Given the description of an element on the screen output the (x, y) to click on. 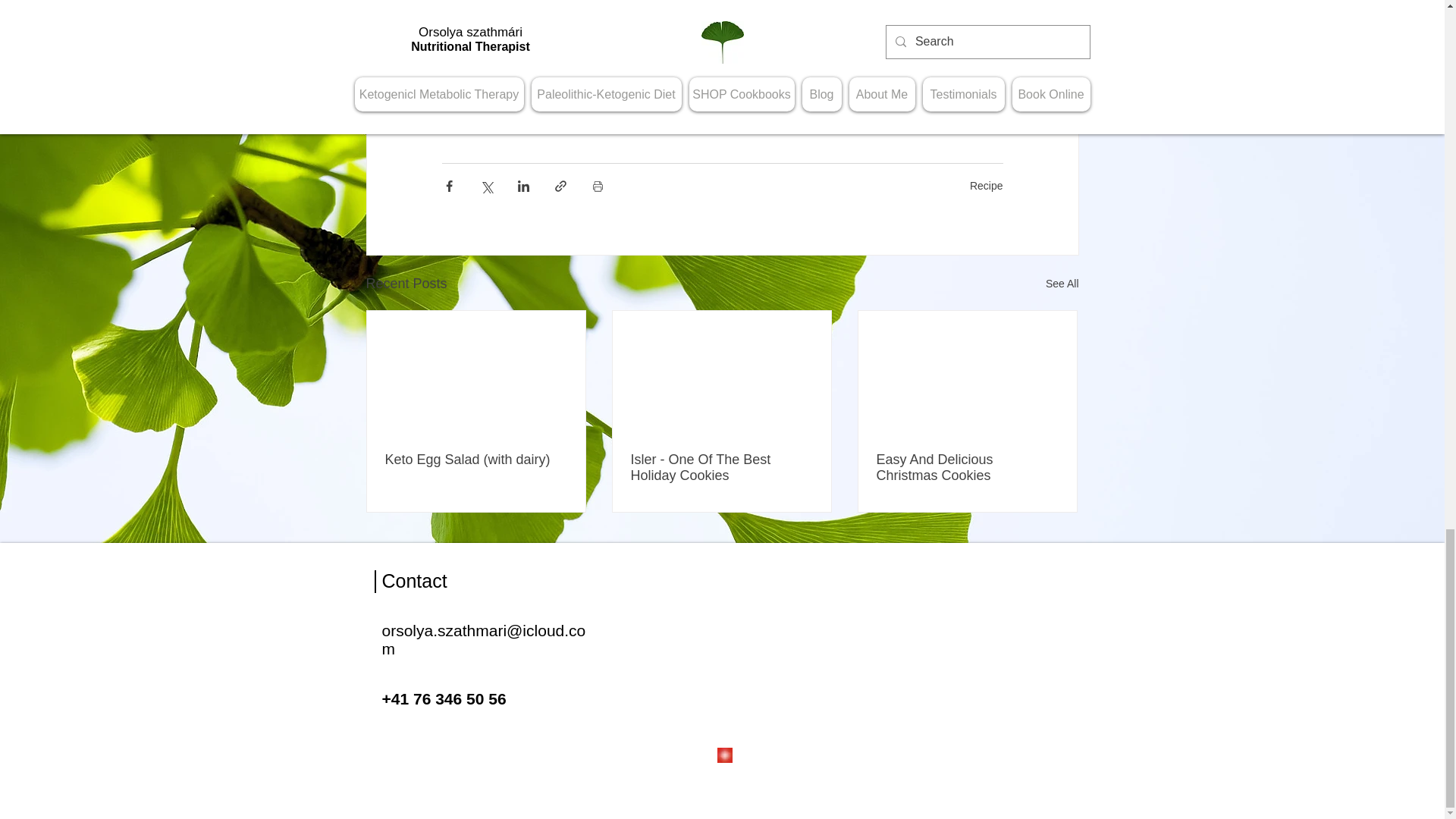
Easy And Delicious Christmas Cookies (967, 468)
Recipe (986, 185)
See All (1061, 283)
Isler - One Of The Best Holiday Cookies (721, 468)
